Given the description of an element on the screen output the (x, y) to click on. 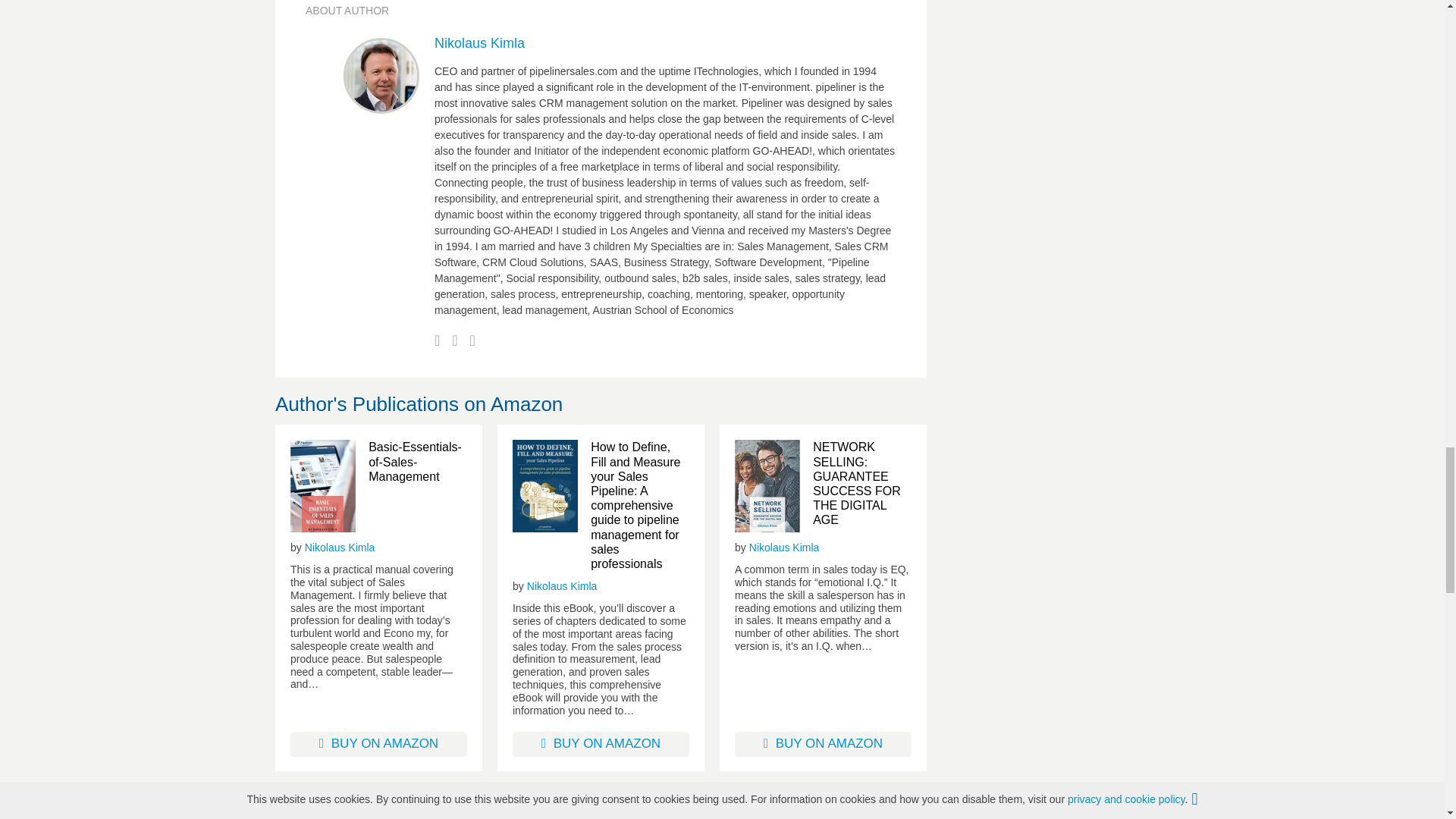
Nikolaus Kimla (339, 547)
Nikolaus Kimla (478, 43)
Basic-Essentials-of-Sales-Management (417, 461)
